Given the description of an element on the screen output the (x, y) to click on. 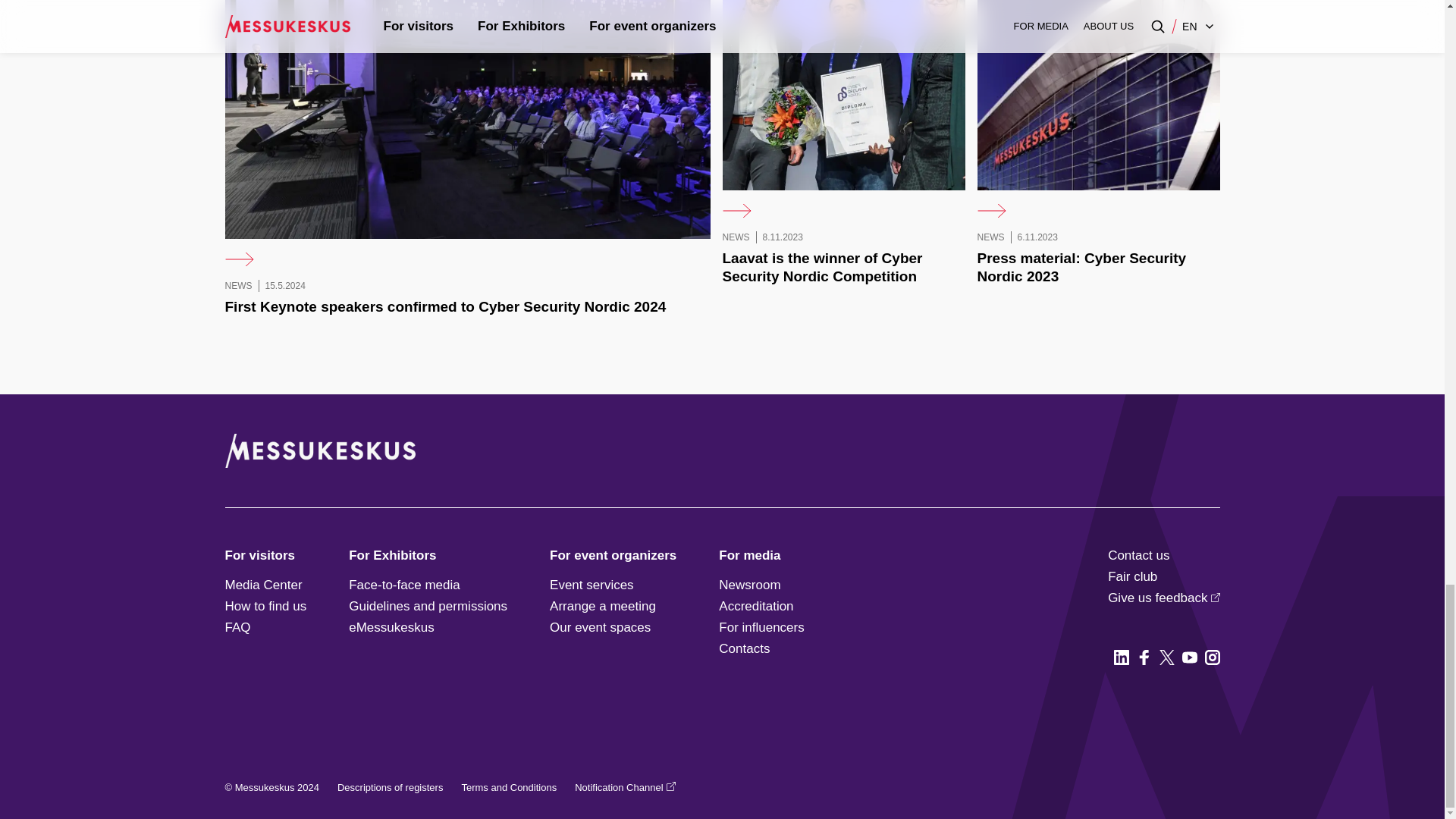
Messukeskus (351, 450)
